Given the description of an element on the screen output the (x, y) to click on. 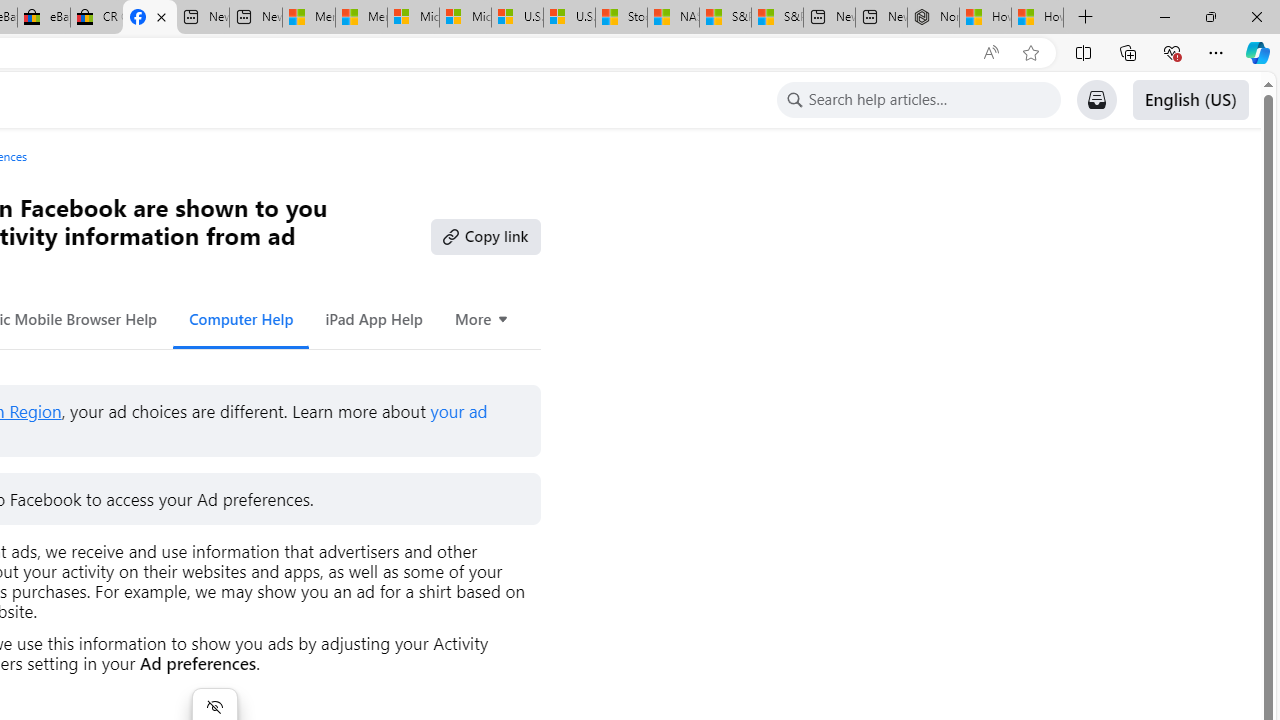
Copy link (485, 236)
